Given the description of an element on the screen output the (x, y) to click on. 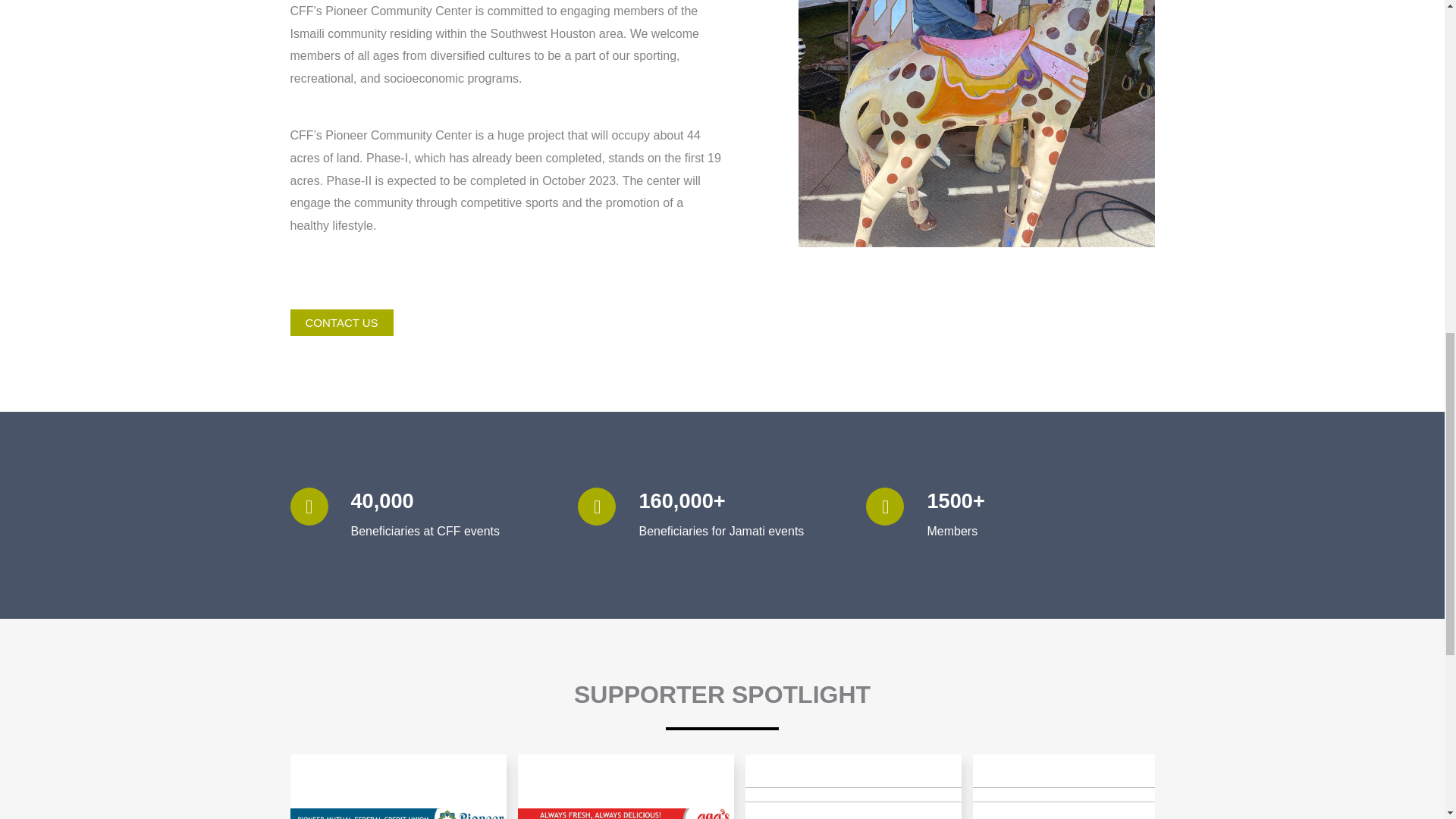
List Title (1307, 786)
List Title (1080, 786)
List Title (852, 786)
